Given the description of an element on the screen output the (x, y) to click on. 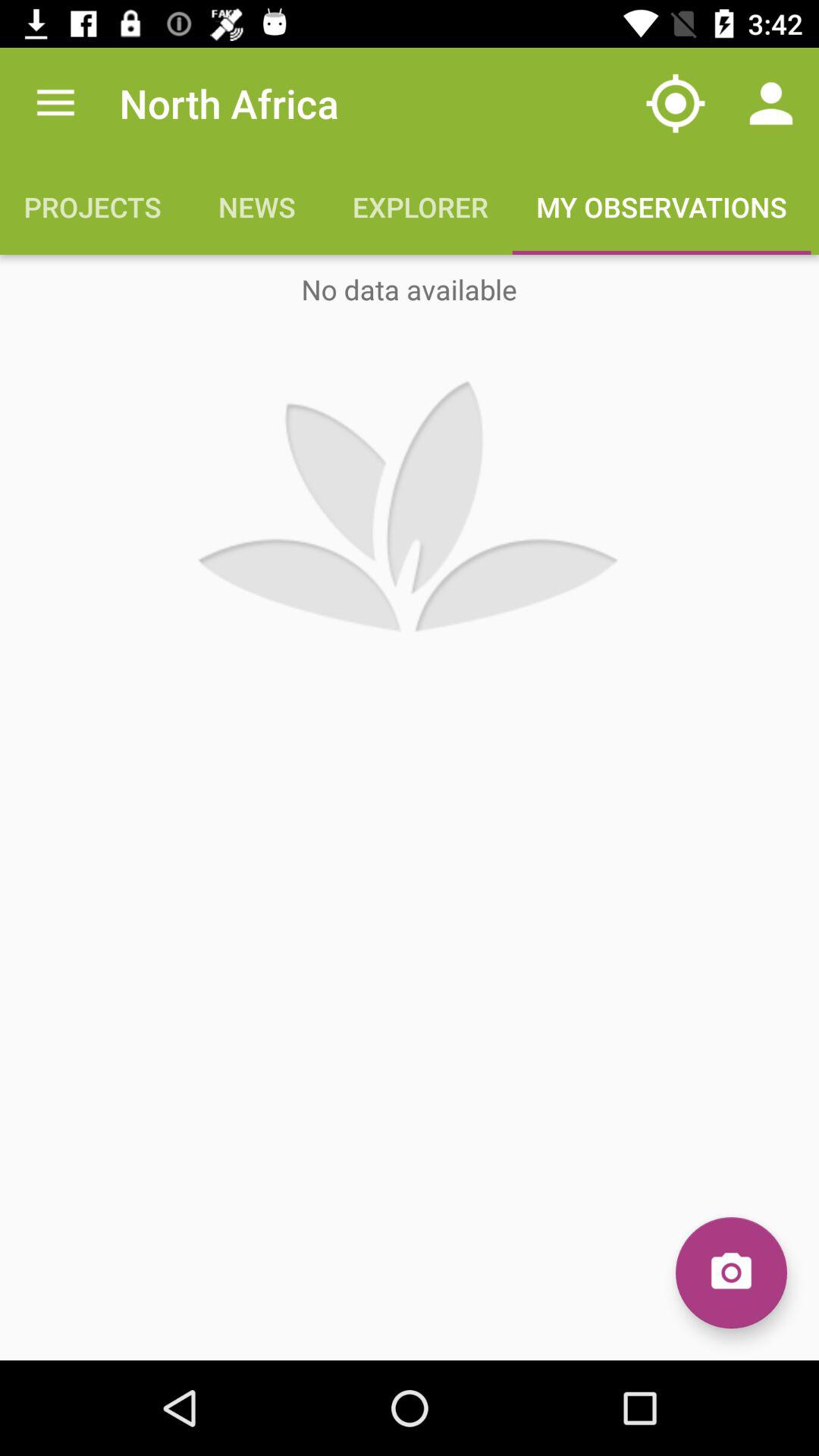
open item to the right of north africa item (675, 103)
